Given the description of an element on the screen output the (x, y) to click on. 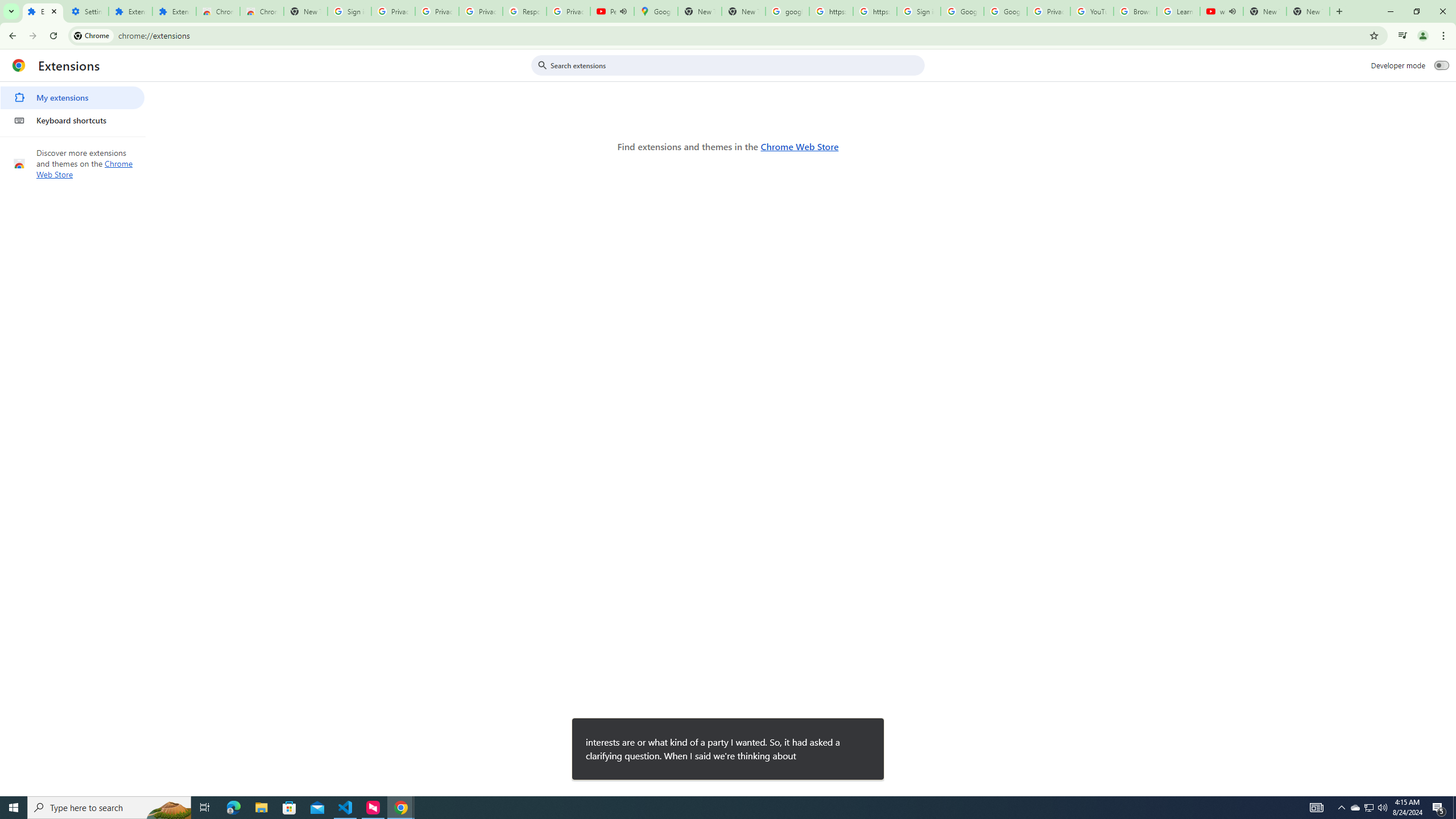
YouTube (1091, 11)
New Tab (1308, 11)
Google Maps (655, 11)
